Given the description of an element on the screen output the (x, y) to click on. 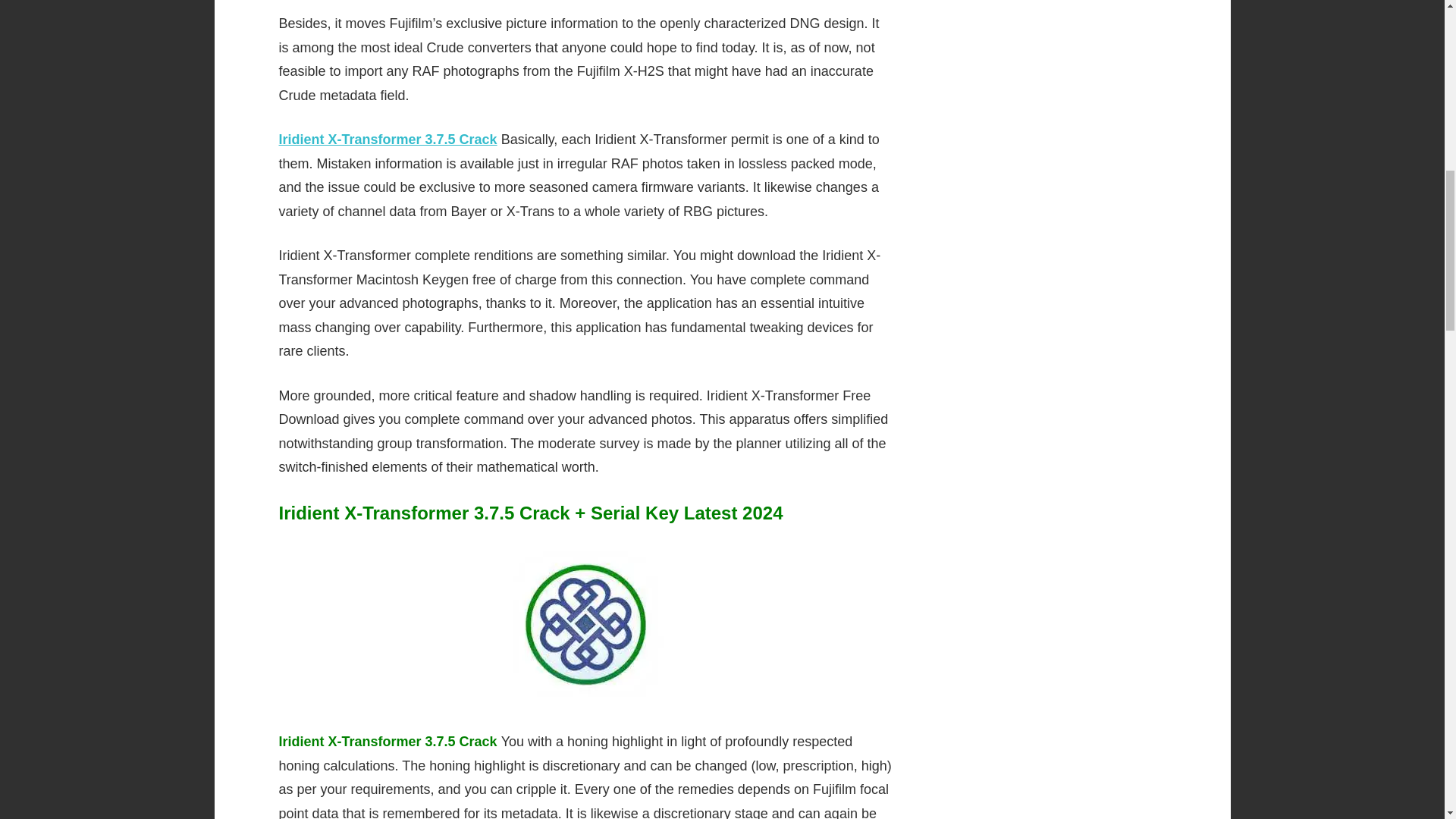
Iridient X-Transformer 3.7.5 Crack (388, 139)
